Given the description of an element on the screen output the (x, y) to click on. 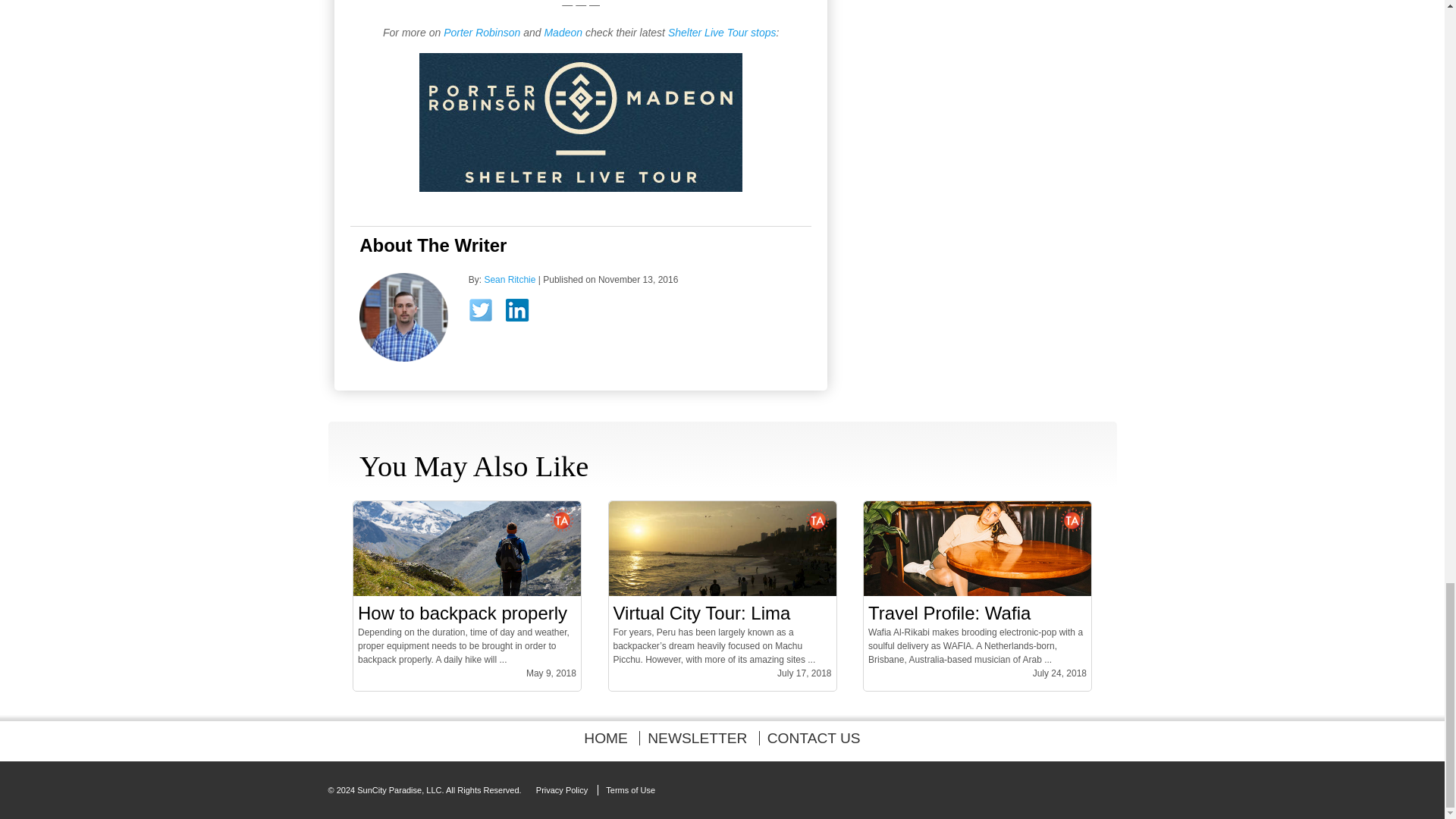
Sean Ritchie (509, 279)
Sean Ritchie (509, 279)
Shelter Live Tour stops (722, 32)
Sean Ritchie (403, 357)
How to backpack properly (466, 593)
Twitter: Sean Ritchie (485, 314)
Porter Robinson (481, 32)
LinkedIn: Sean Ritchie (521, 313)
How to backpack properly (462, 612)
Madeon (562, 32)
